Given the description of an element on the screen output the (x, y) to click on. 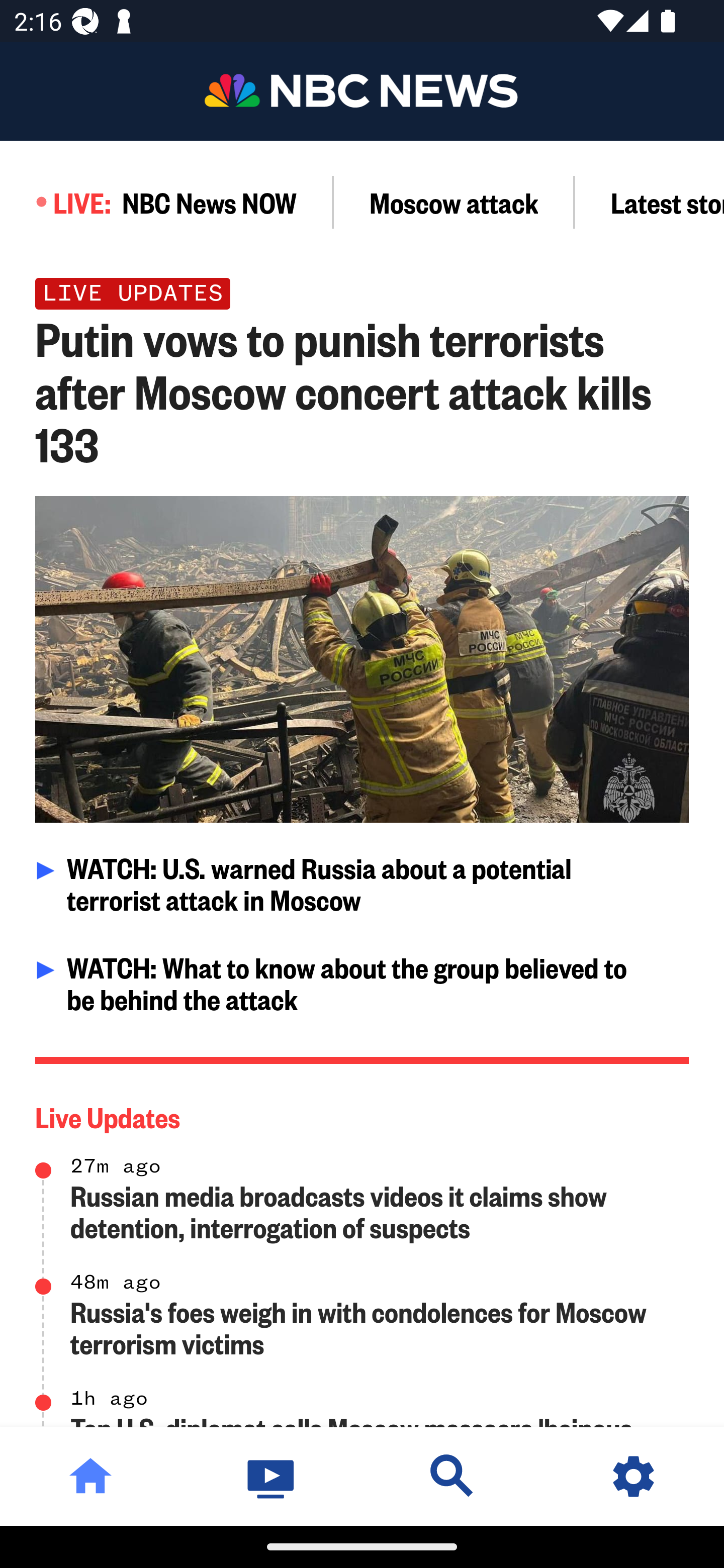
LIVE:  NBC News NOW (166, 202)
Moscow attack (453, 202)
Latest stories Section,Latest stories (649, 202)
Watch (271, 1475)
Discover (452, 1475)
Settings (633, 1475)
